Given the description of an element on the screen output the (x, y) to click on. 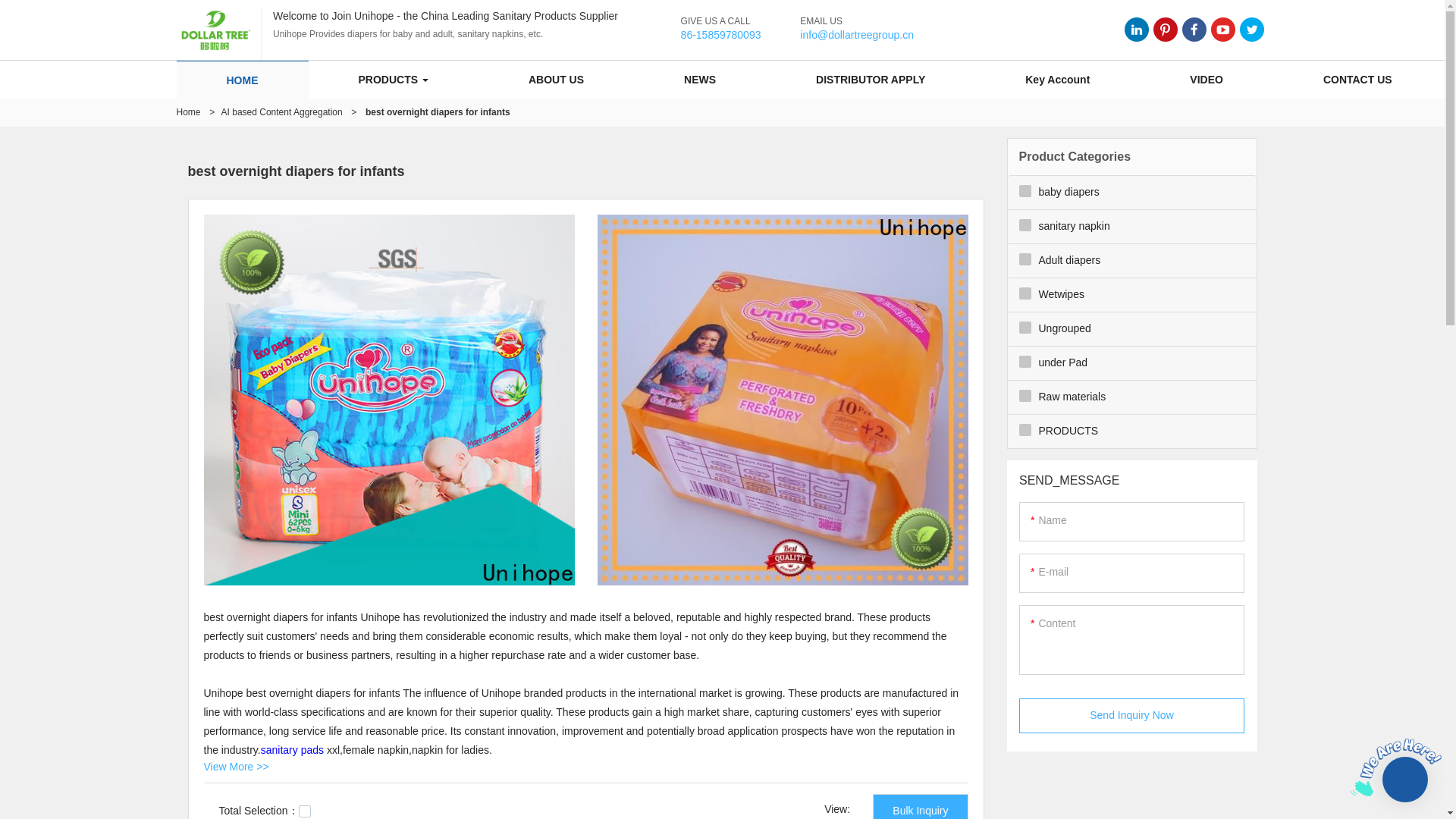
DISTRIBUTOR APPLY (870, 79)
HOME (242, 80)
Home (188, 112)
on (304, 811)
CONTACT US (1357, 79)
ABOUT US (555, 79)
PRODUCTS (393, 79)
VIDEO (1205, 79)
86-15859780093 (721, 34)
AI based Content Aggregation (281, 112)
NEWS (699, 79)
Key Account (1056, 79)
